Given the description of an element on the screen output the (x, y) to click on. 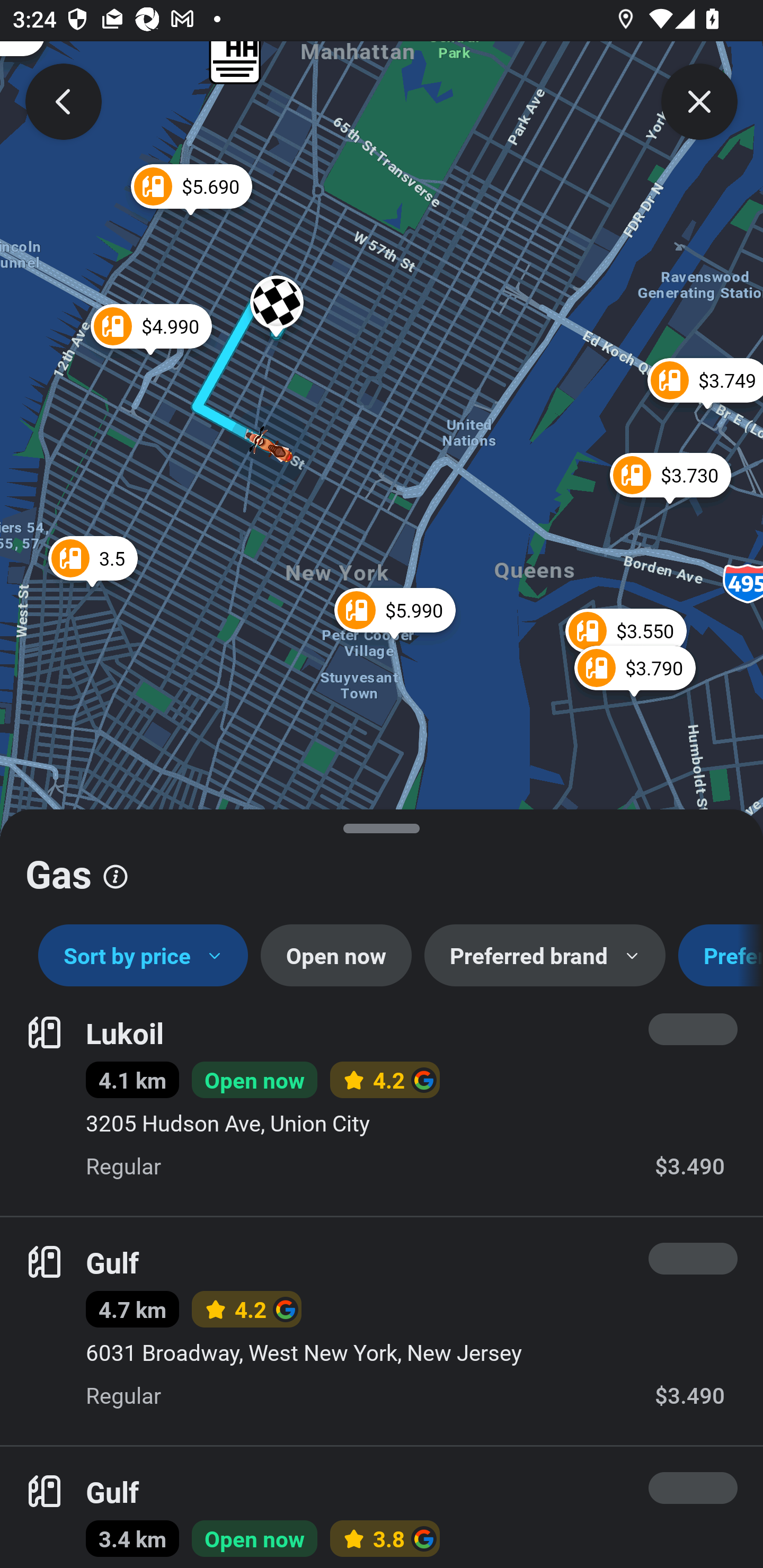
Gas (381, 867)
Sort by price (142, 955)
Open now (336, 955)
Preferred brand (544, 955)
Preferred gas type (720, 955)
